Given the description of an element on the screen output the (x, y) to click on. 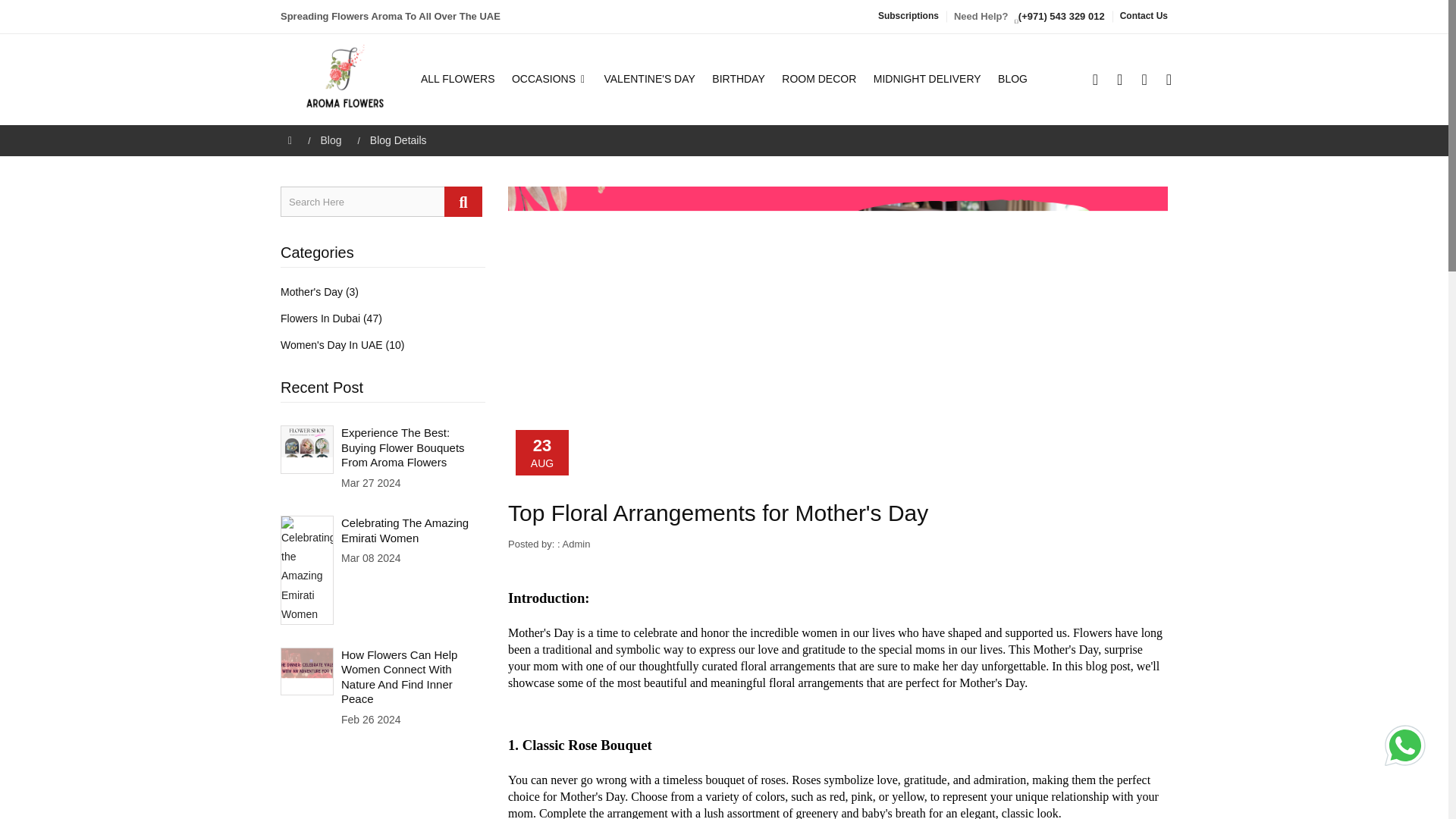
ALL FLOWERS (461, 78)
MIDNIGHT DELIVERY (927, 78)
Contact Us (1143, 15)
BLOG (1008, 78)
Subscriptions (908, 15)
BIRTHDAY (738, 78)
OCCASIONS (548, 78)
VALENTINE'S DAY (648, 78)
ROOM DECOR (818, 78)
